Given the description of an element on the screen output the (x, y) to click on. 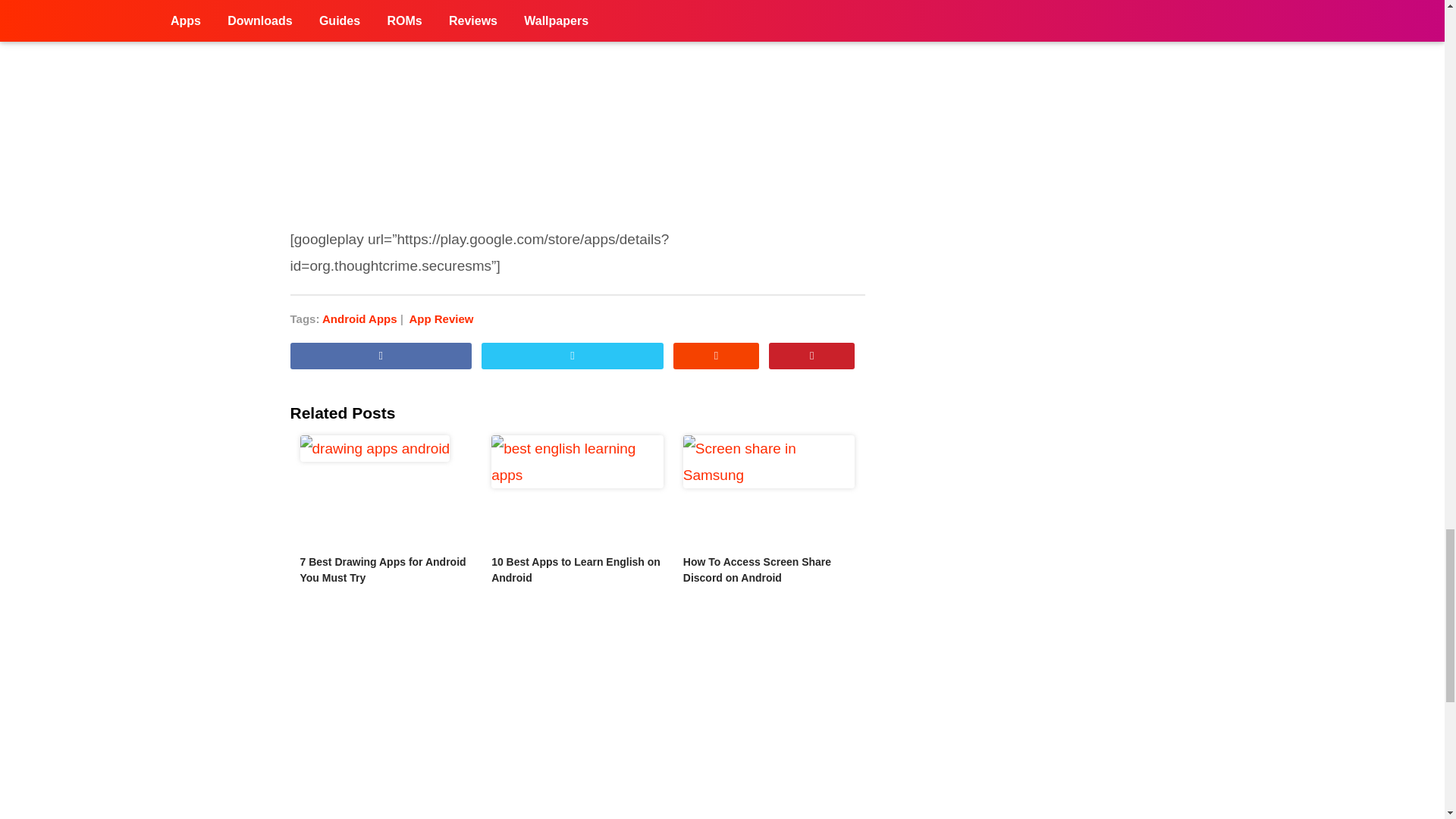
10 Best Apps to Learn English on Android (576, 569)
7 Best Drawing Apps for Android You Must Try (382, 569)
7 Best Drawing Apps for Android You Must Try (385, 491)
How To Access Screen Share Discord on Android (769, 491)
App Review (441, 318)
Android Apps (363, 318)
10 Best Apps to Learn English on Android (577, 491)
How To Access Screen Share Discord on Android (756, 569)
